Given the description of an element on the screen output the (x, y) to click on. 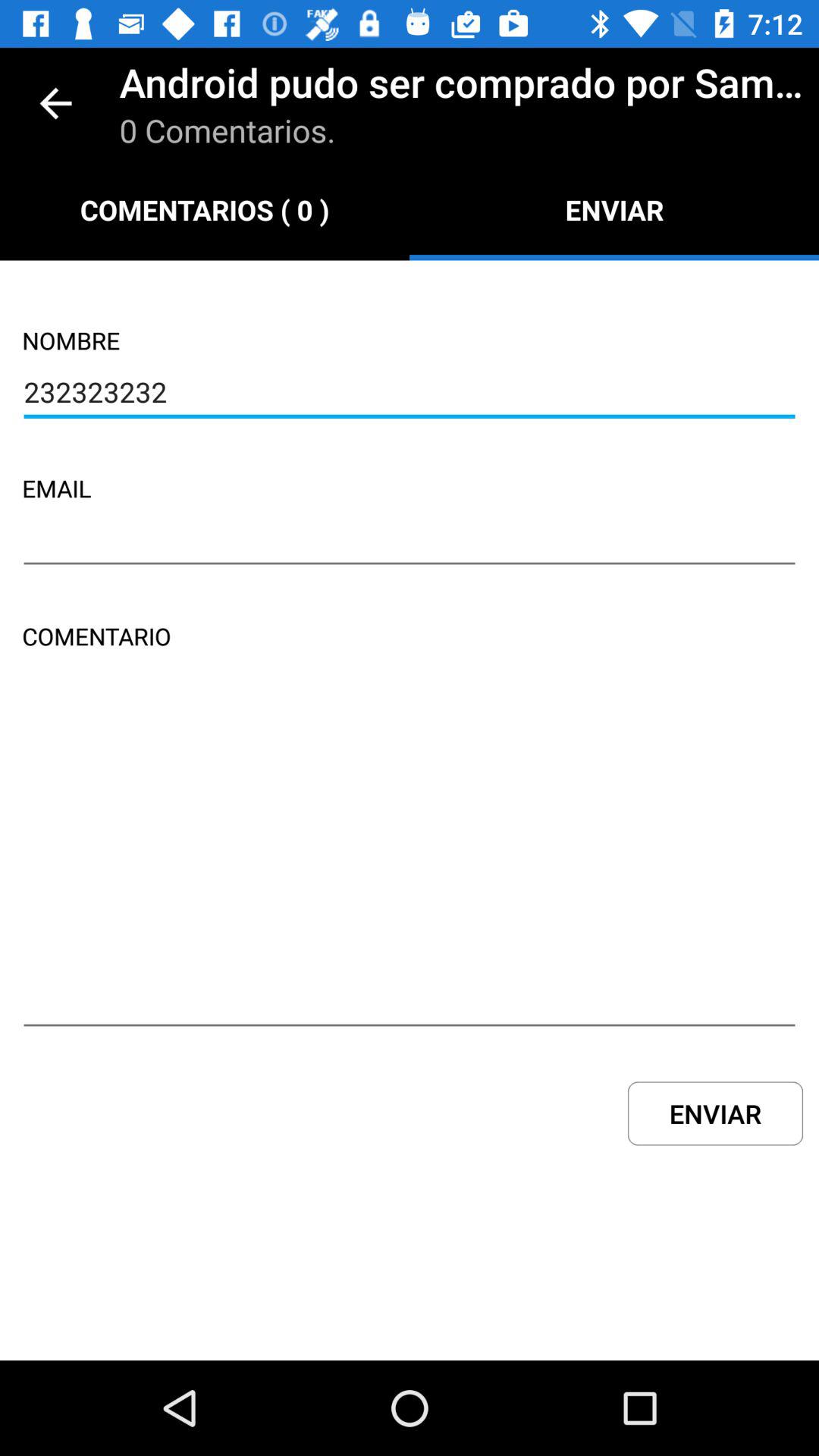
comentario write in box (409, 862)
